Given the description of an element on the screen output the (x, y) to click on. 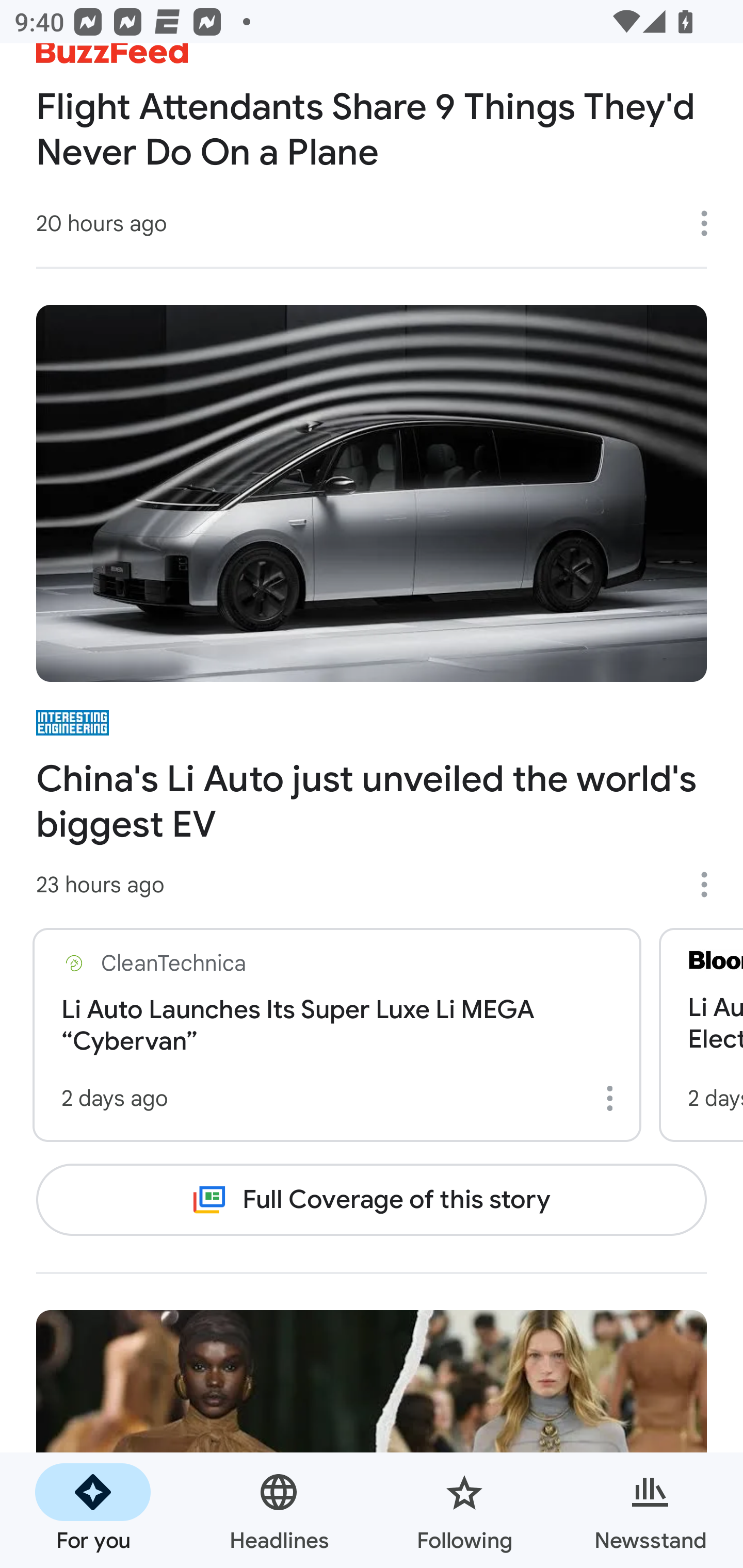
More options (711, 223)
More options (711, 884)
More options (613, 1097)
Full Coverage of this story (371, 1199)
For you (92, 1509)
Headlines (278, 1509)
Following (464, 1509)
Newsstand (650, 1509)
